Given the description of an element on the screen output the (x, y) to click on. 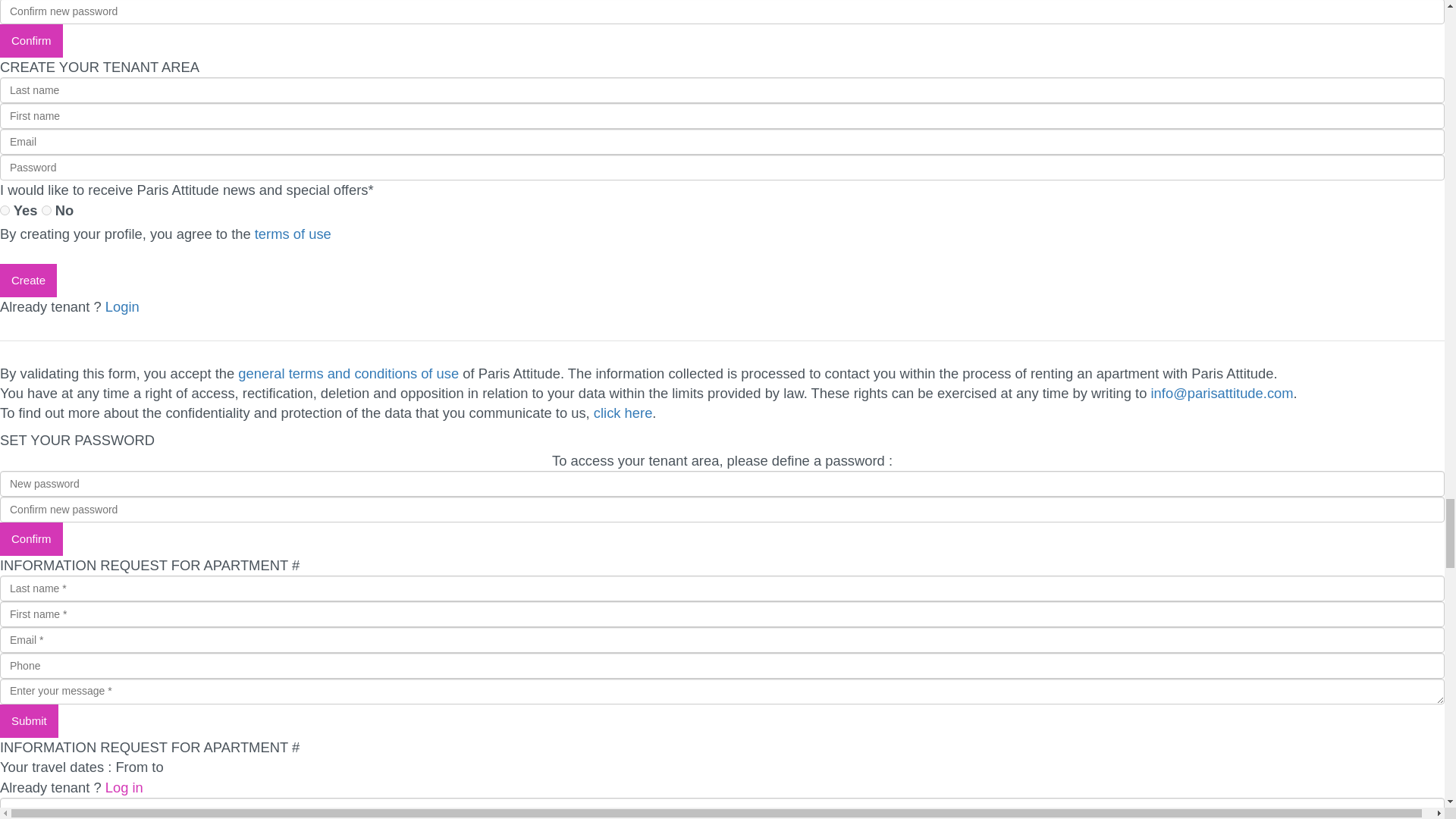
Confirm (31, 539)
False (46, 210)
Submit (29, 720)
True (5, 210)
Create (28, 280)
Confirm (31, 40)
